Given the description of an element on the screen output the (x, y) to click on. 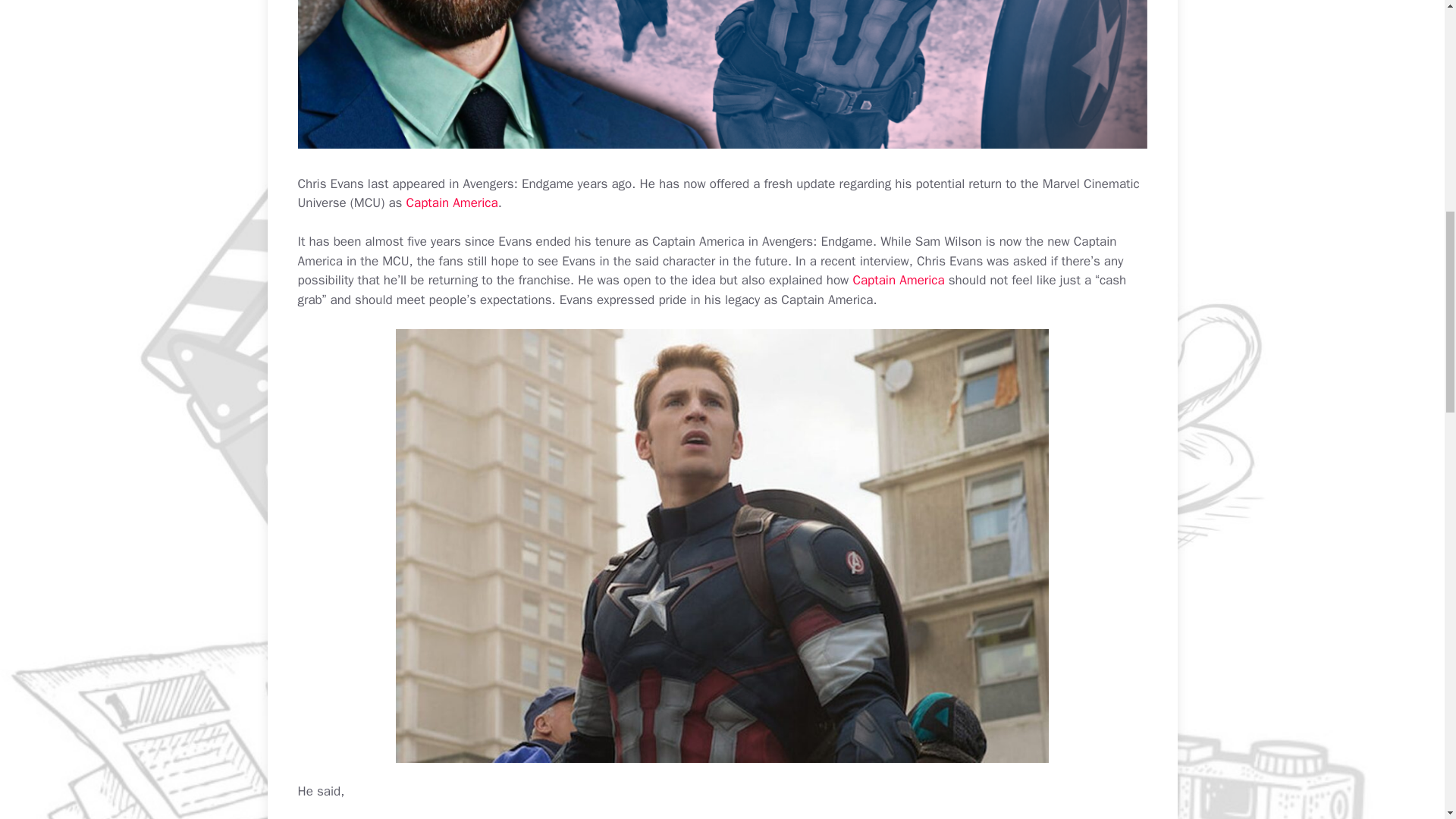
Scroll back to top (1406, 720)
Captain America (451, 202)
Captain America (451, 202)
Captain America (897, 279)
Captain America (897, 279)
